Given the description of an element on the screen output the (x, y) to click on. 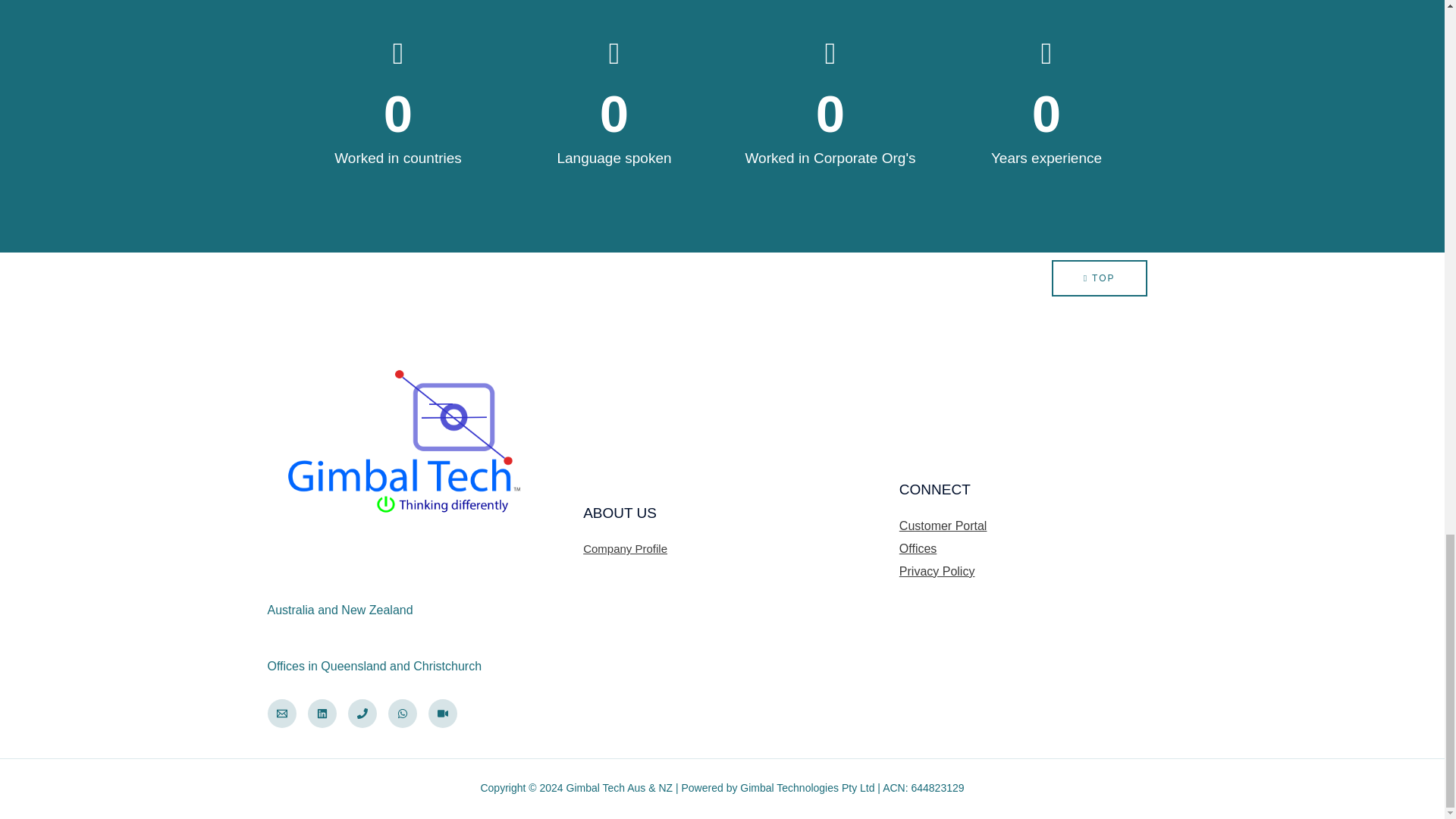
TOP (1099, 278)
Company Profile (624, 548)
Customer Portal (943, 525)
